Given the description of an element on the screen output the (x, y) to click on. 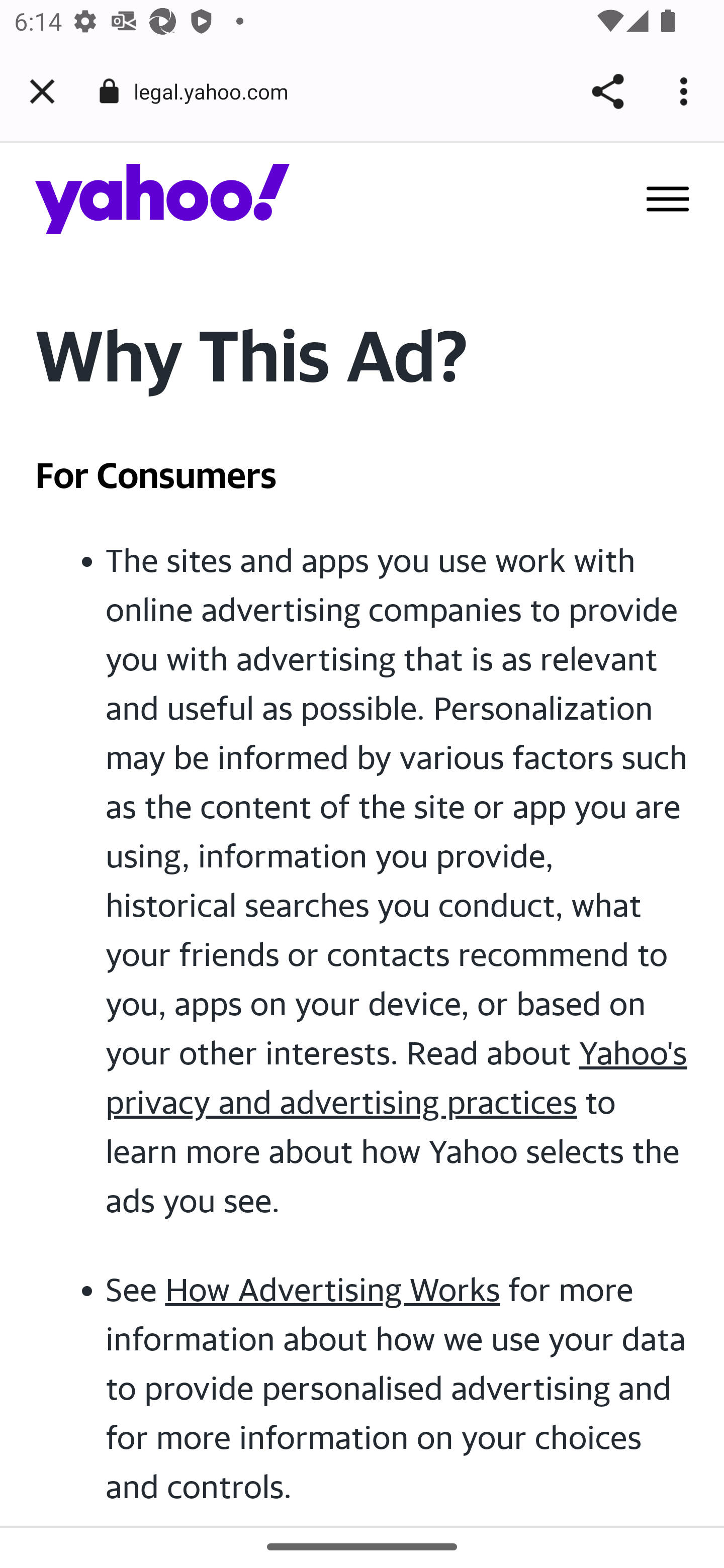
Close tab (42, 91)
Share (607, 91)
More options (687, 91)
Connection is secure (108, 91)
legal.yahoo.com (217, 90)
Yahoo logo (162, 198)
Yahoo's privacy and advertising practices (396, 1076)
How Advertising Works (332, 1289)
